Given the description of an element on the screen output the (x, y) to click on. 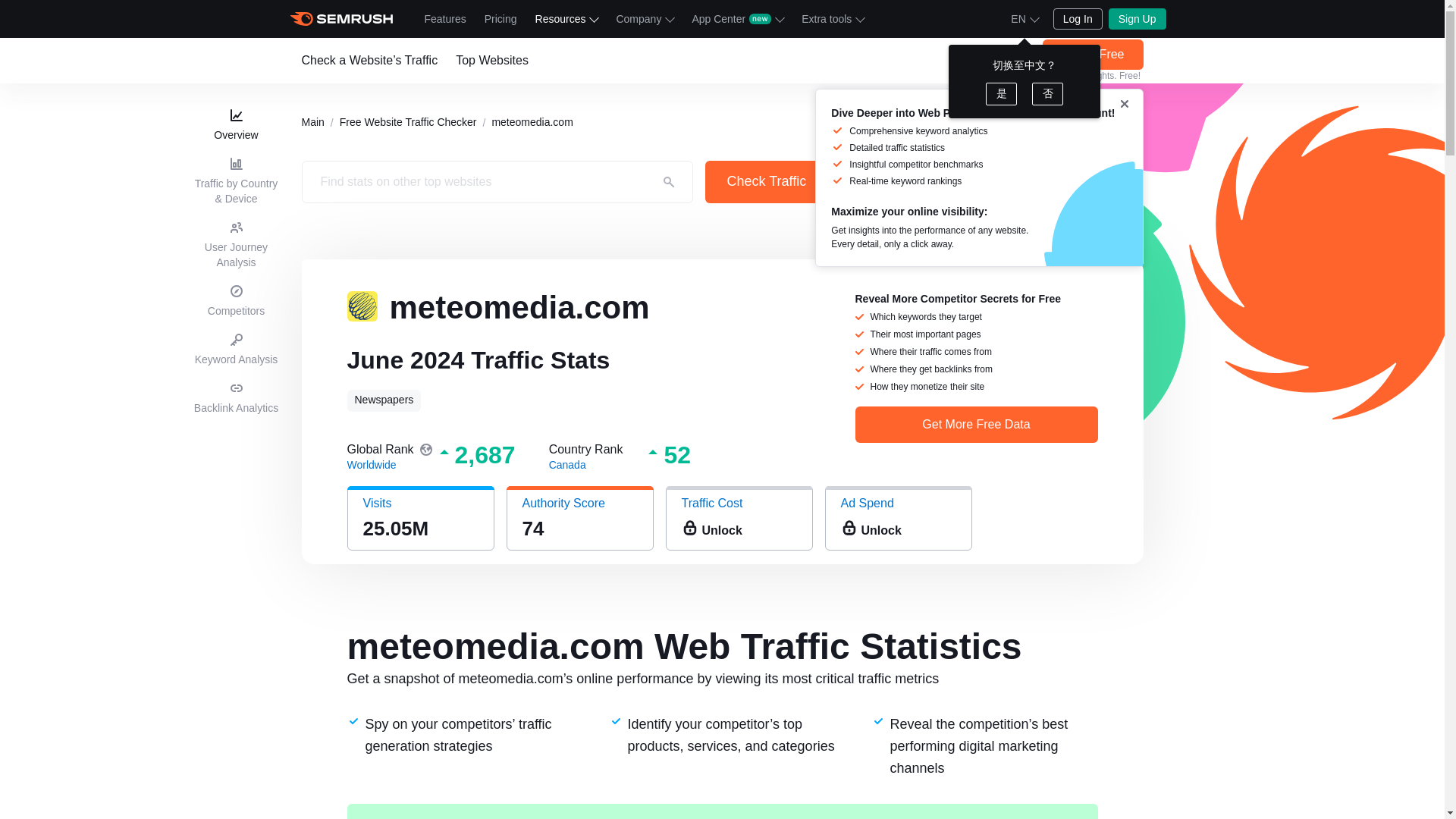
Features (445, 18)
App Center (737, 18)
Resources (566, 18)
Company (644, 18)
Pricing (500, 18)
Extra tools (832, 18)
